Given the description of an element on the screen output the (x, y) to click on. 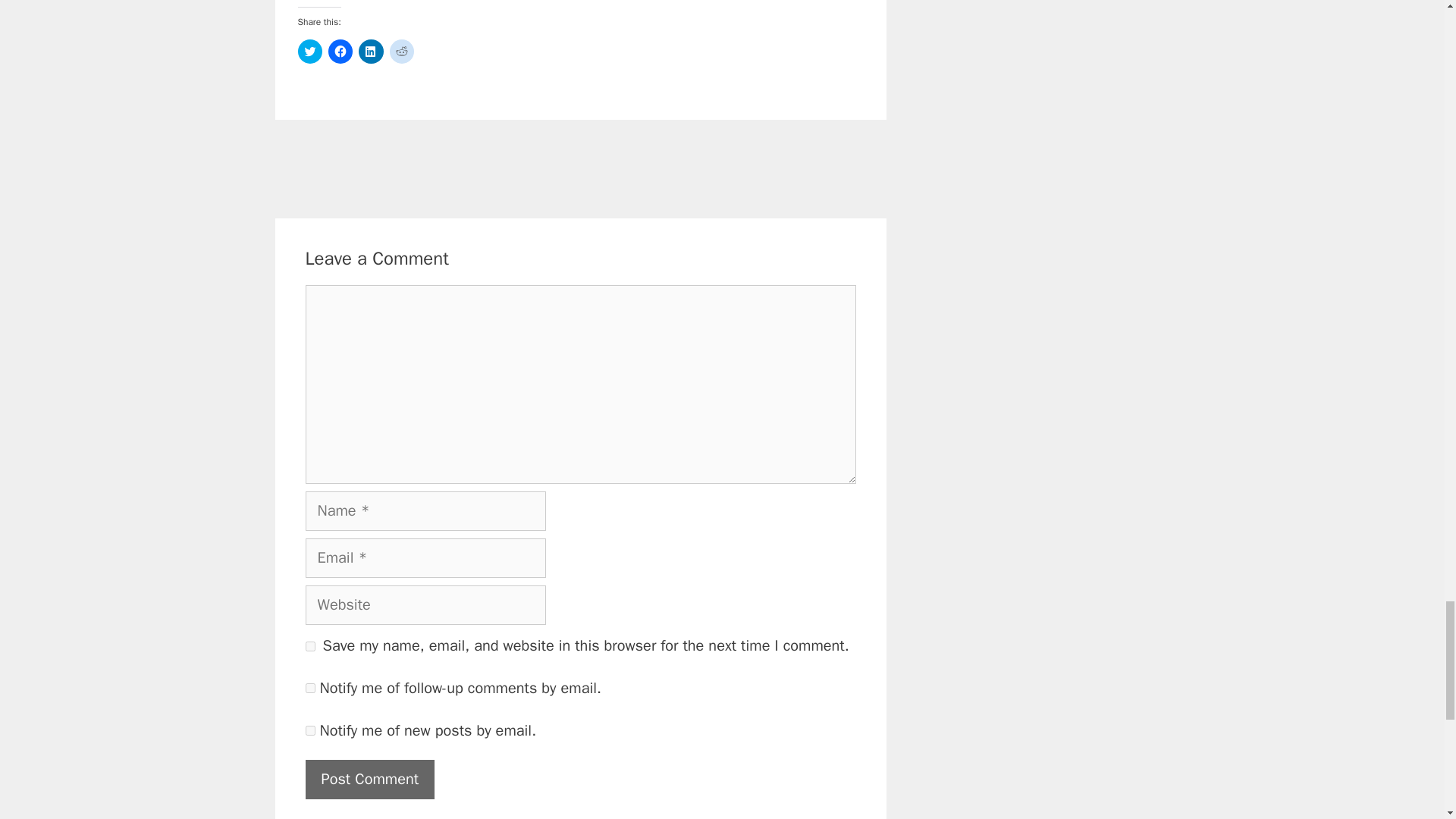
subscribe (309, 687)
Post Comment (368, 779)
Click to share on LinkedIn (370, 51)
yes (309, 646)
subscribe (309, 730)
Post Comment (368, 779)
Click to share on Reddit (401, 51)
Click to share on Twitter (309, 51)
Click to share on Facebook (340, 51)
